Given the description of an element on the screen output the (x, y) to click on. 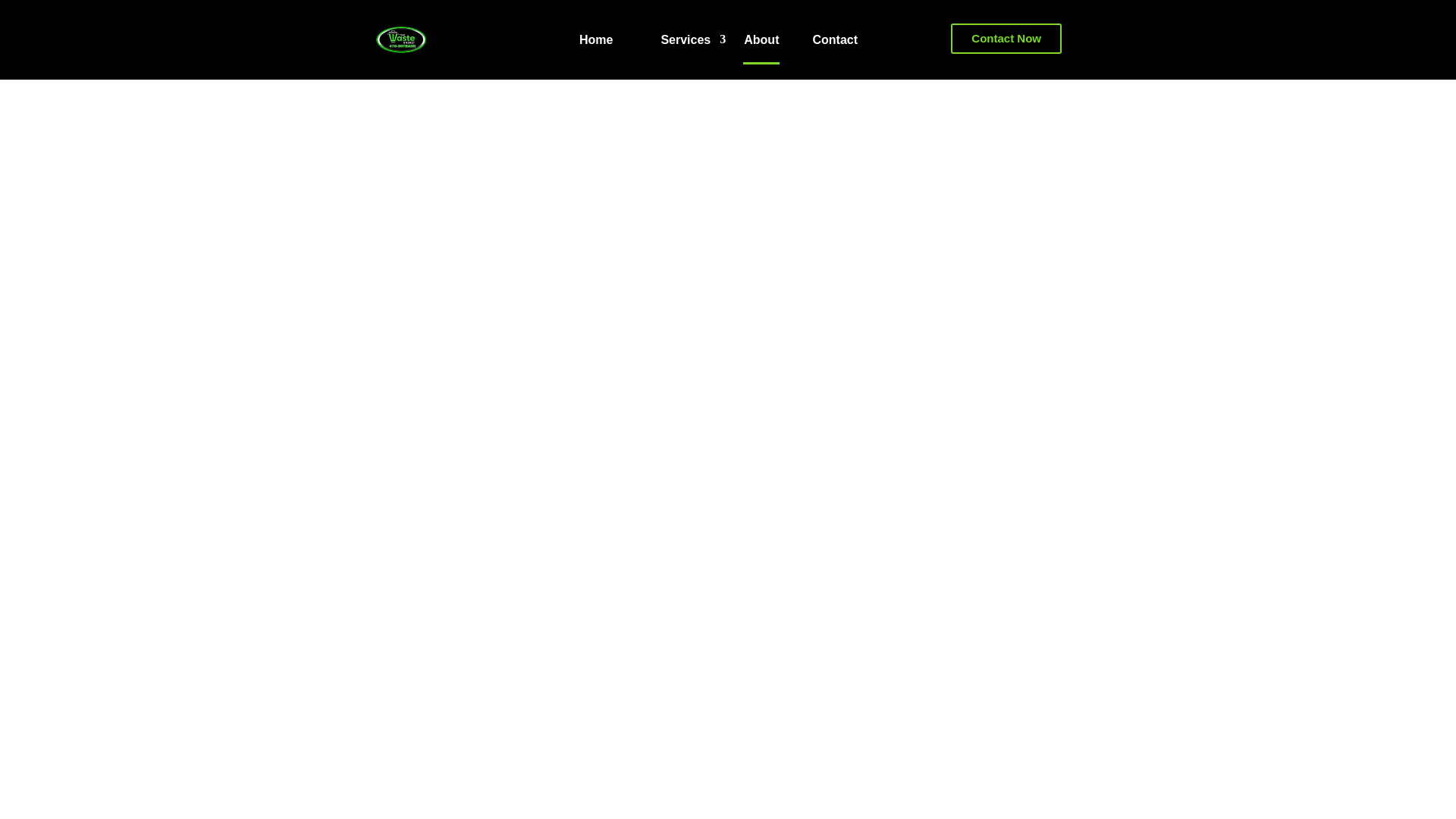
Home (595, 42)
Services (685, 42)
m (400, 39)
Contact (834, 42)
Contact Now (1005, 38)
